Given the description of an element on the screen output the (x, y) to click on. 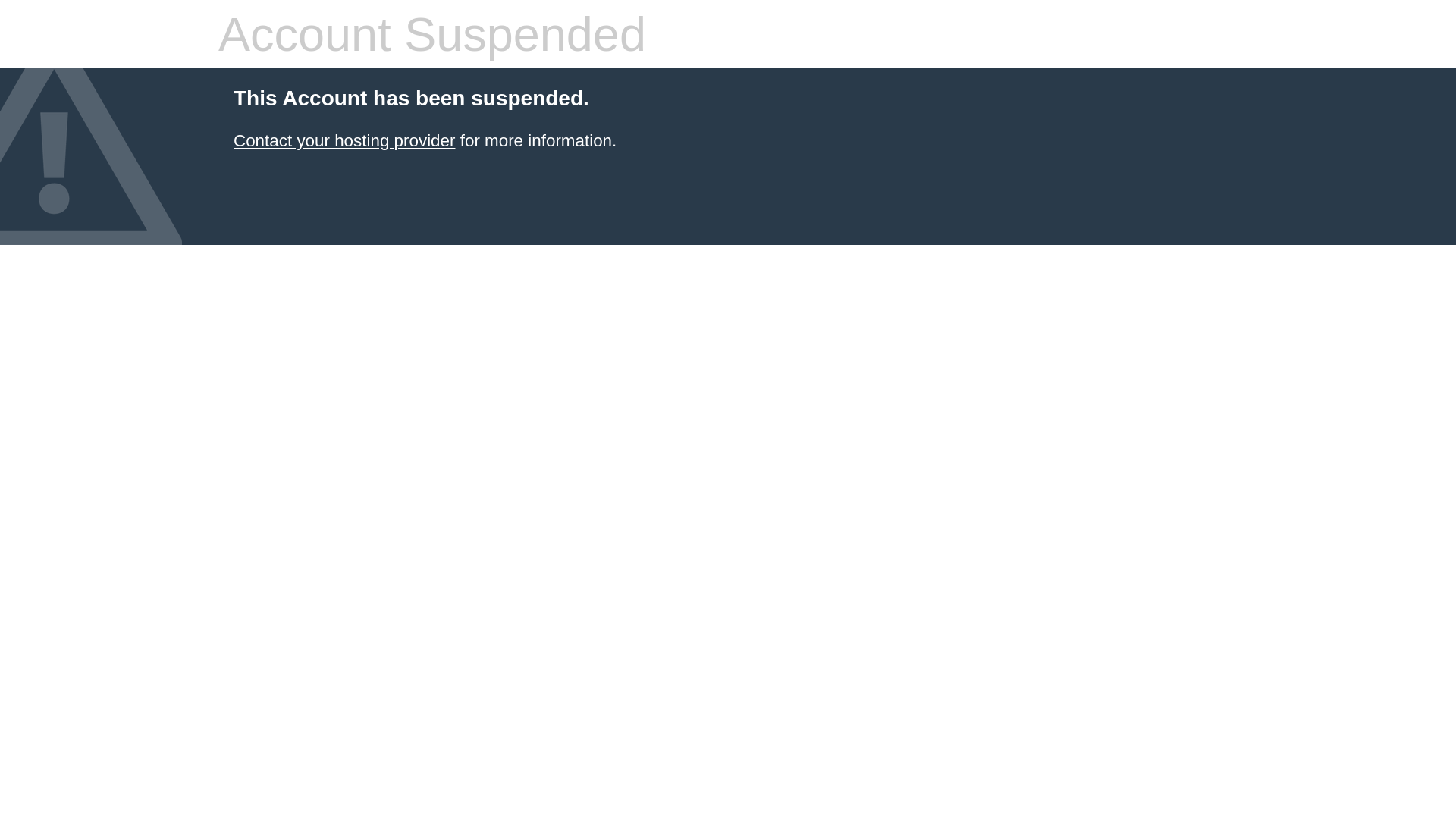
Contact your hosting provider Element type: text (344, 140)
